Given the description of an element on the screen output the (x, y) to click on. 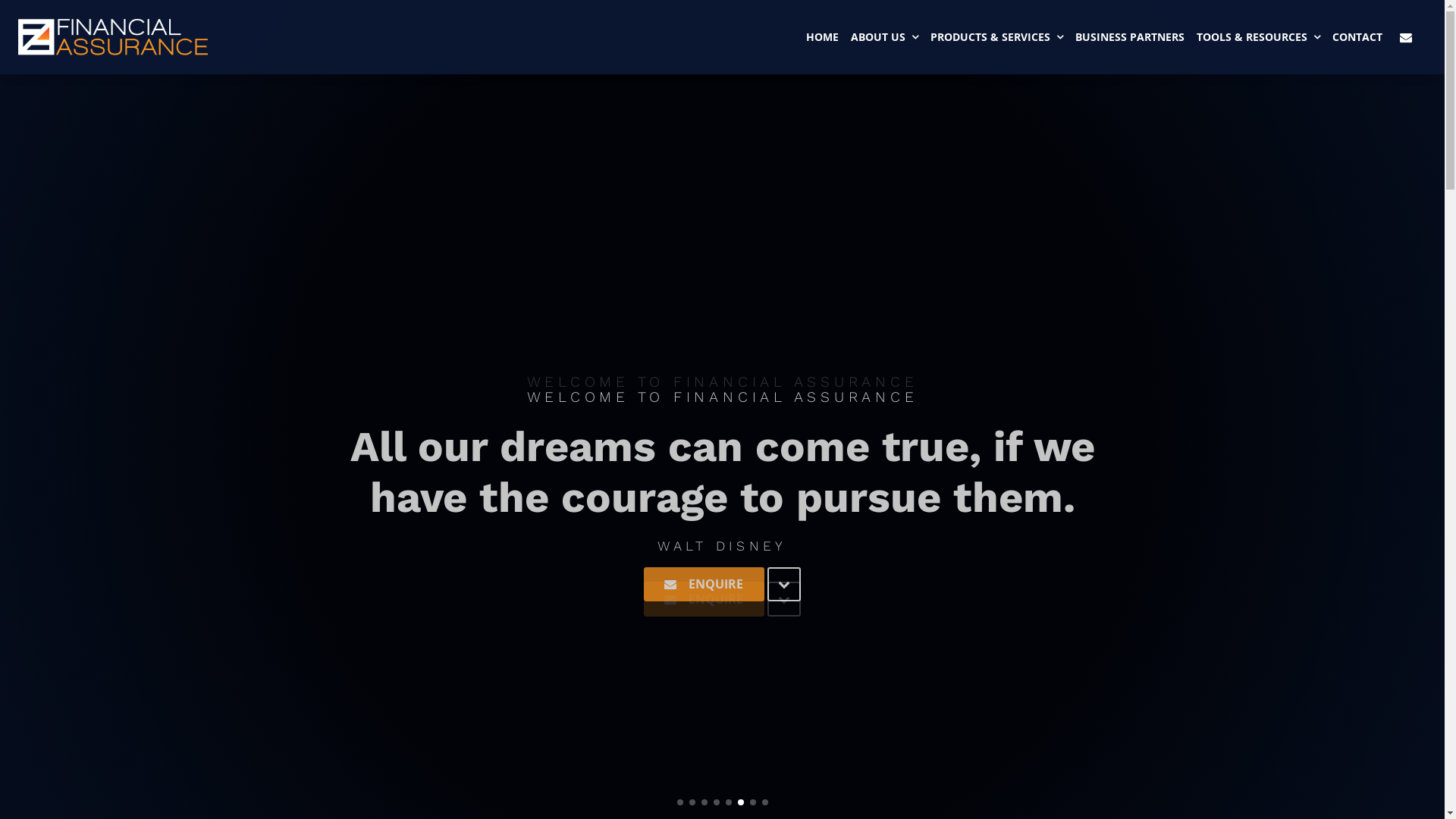
TOOLS & RESOURCES Element type: text (1258, 37)
BUSINESS PARTNERS Element type: text (1129, 37)
ENQUIRE Element type: text (703, 573)
CONTACT Element type: text (1357, 37)
PRODUCTS & SERVICES Element type: text (996, 37)
ABOUT US Element type: text (884, 37)
HOME Element type: text (822, 37)
